Given the description of an element on the screen output the (x, y) to click on. 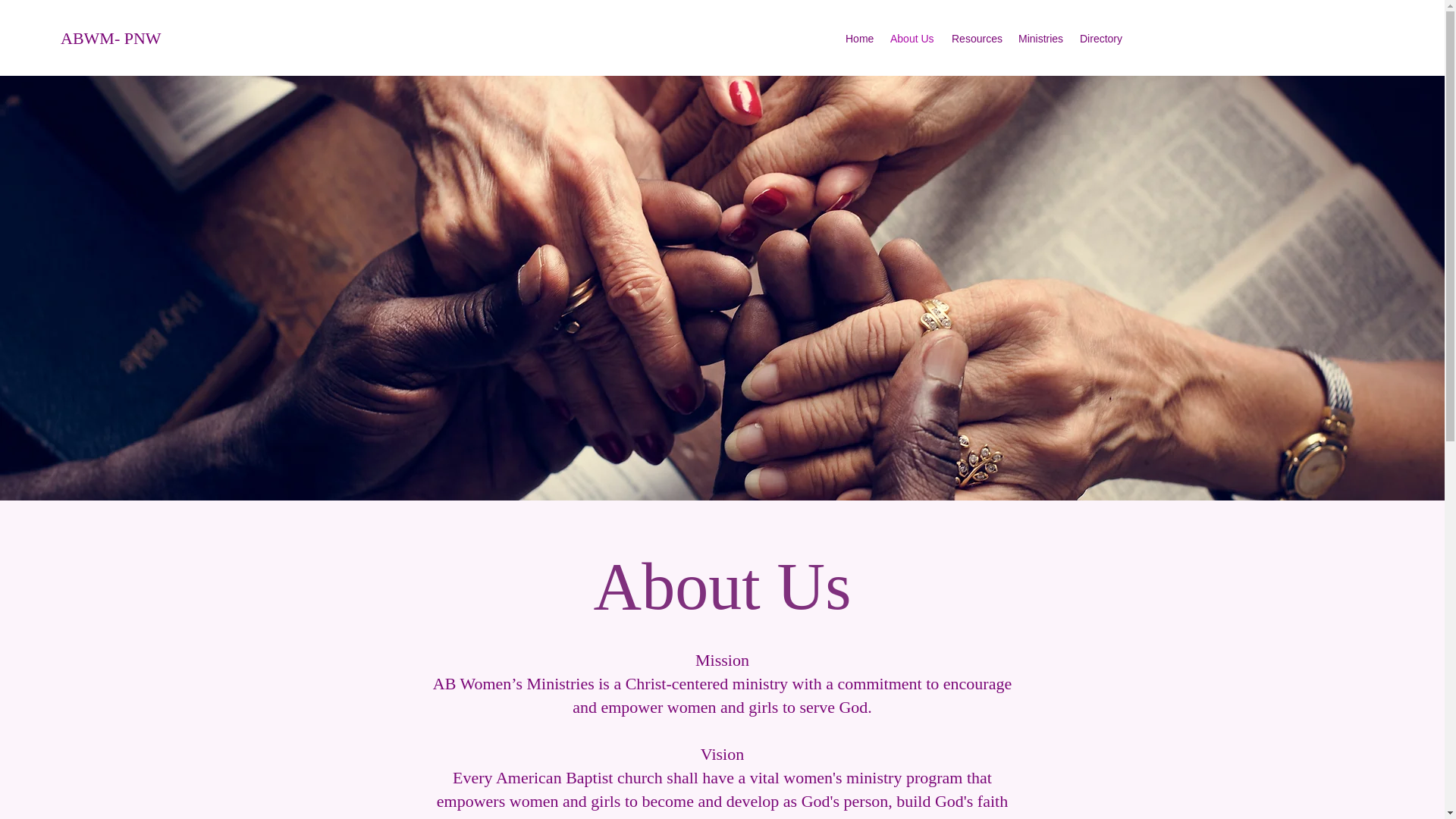
Directory (1101, 38)
About Us (912, 38)
Ministries (1040, 38)
Resources (976, 38)
Home (860, 38)
